Given the description of an element on the screen output the (x, y) to click on. 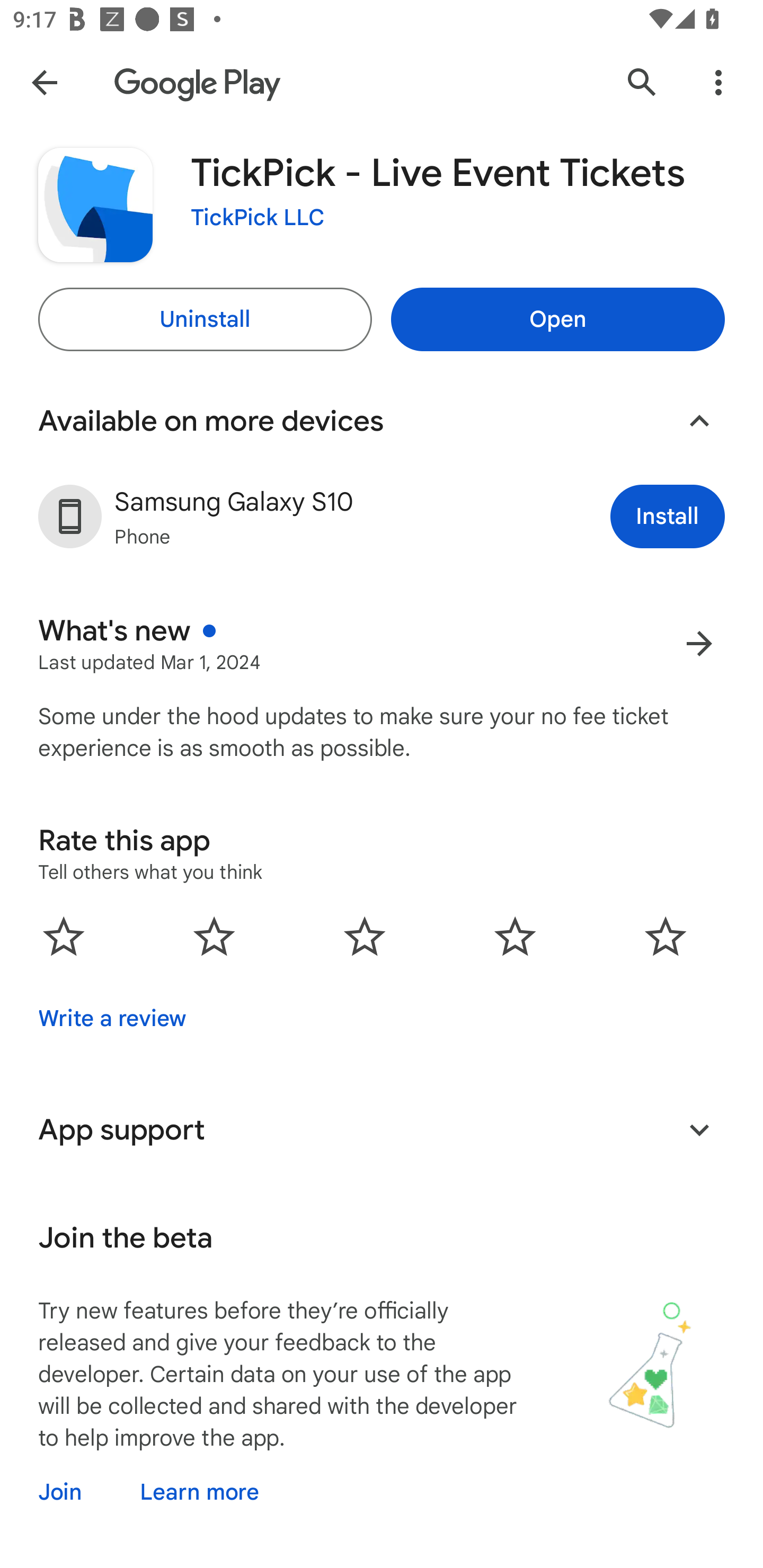
Navigate up (44, 81)
Search Google Play (642, 81)
More Options (718, 81)
TickPick LLC (257, 217)
Uninstall (205, 318)
Open (557, 318)
Available on more devices Collapse (381, 420)
Collapse (699, 420)
Install (667, 516)
More results for What's new (699, 643)
0.0 (364, 935)
Write a review (112, 1018)
App support Expand (381, 1129)
Expand (699, 1129)
Join (76, 1491)
Learn more (199, 1491)
